Given the description of an element on the screen output the (x, y) to click on. 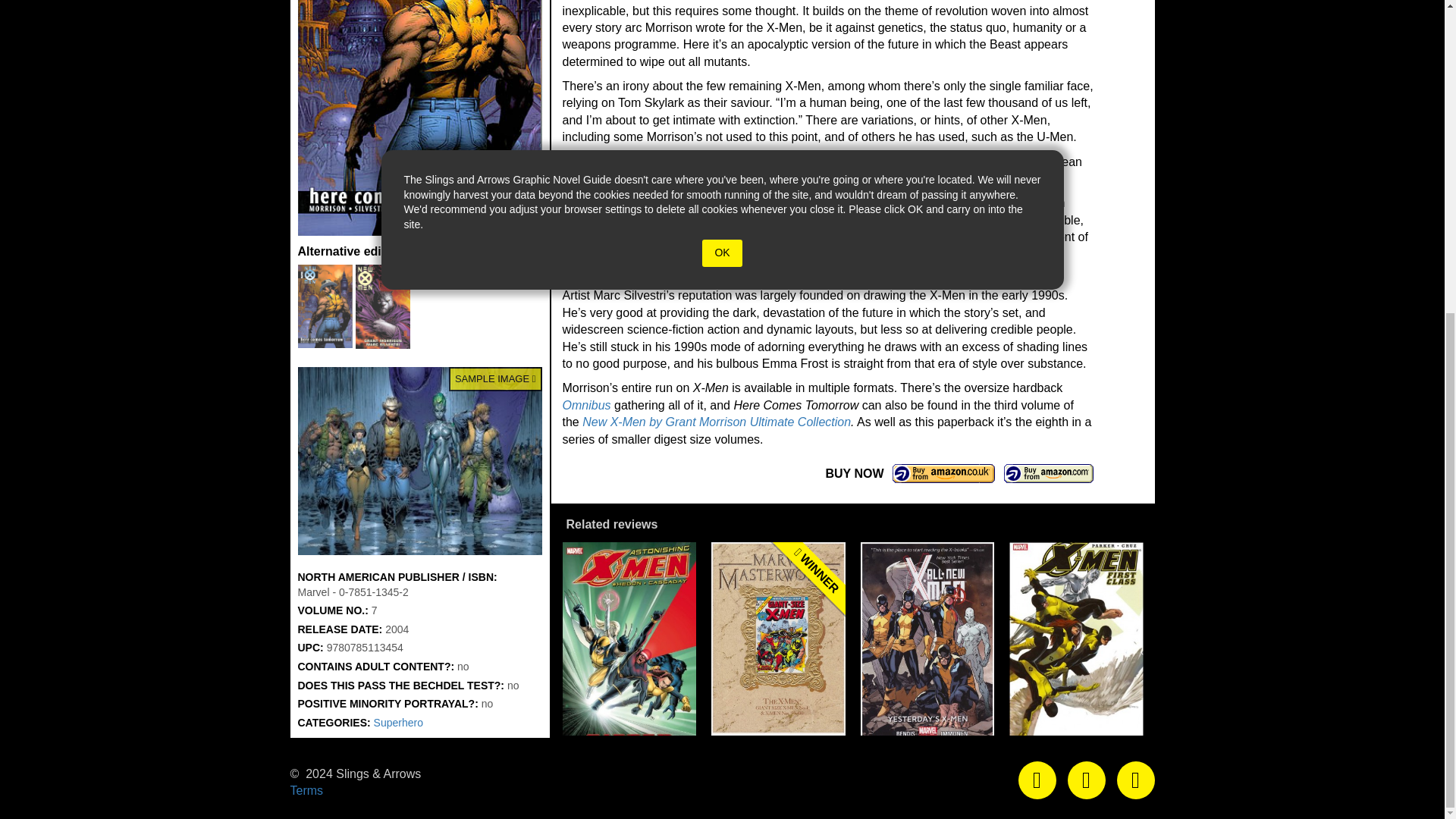
New X-Men by Grant Morrison Ultimate Collection (716, 421)
Omnibus (586, 404)
Superhero (398, 722)
SAMPLE IMAGE  (419, 460)
OK (721, 252)
